Given the description of an element on the screen output the (x, y) to click on. 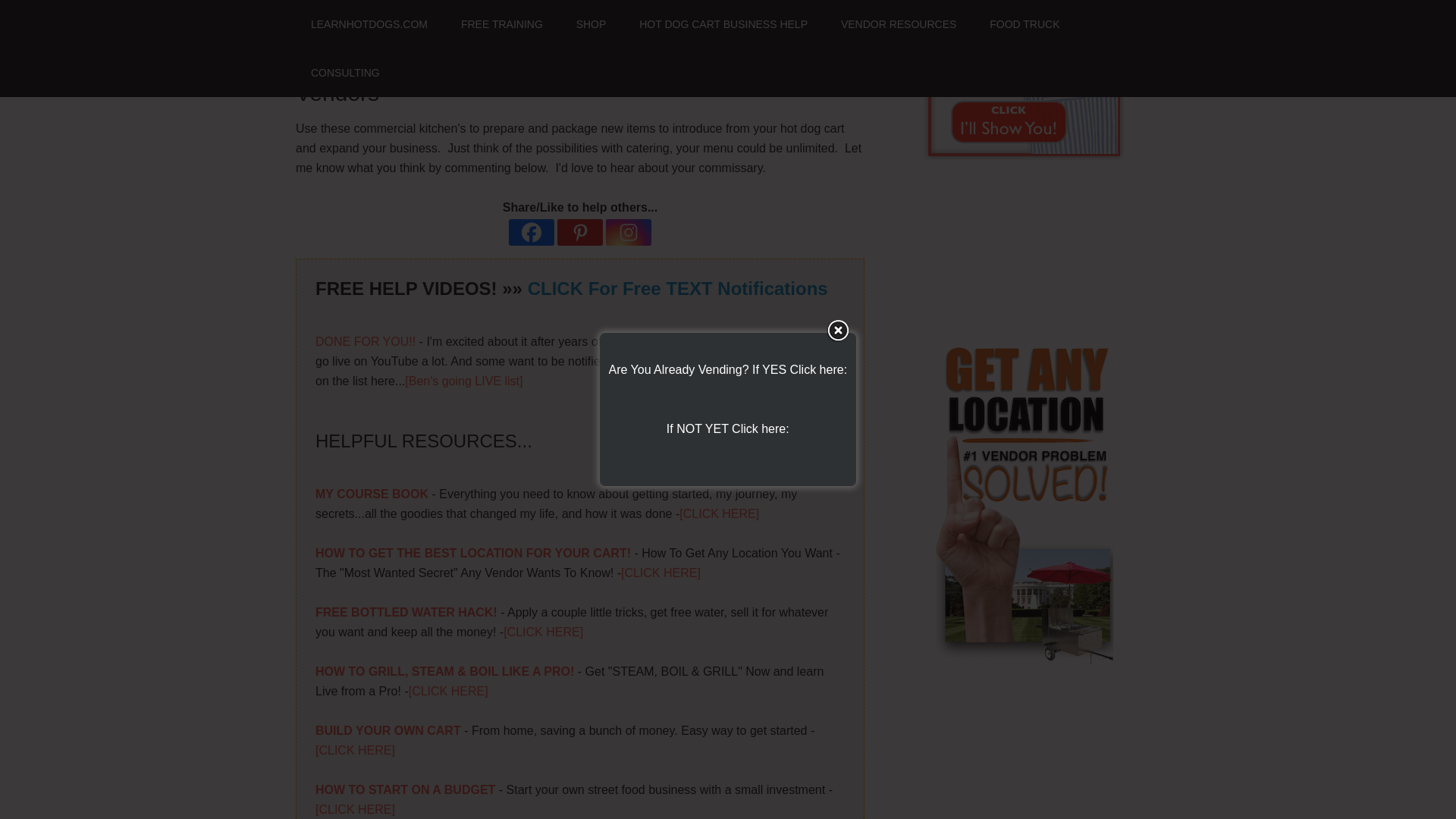
Pinterest (579, 232)
Facebook (531, 232)
Instagram (627, 232)
